Given the description of an element on the screen output the (x, y) to click on. 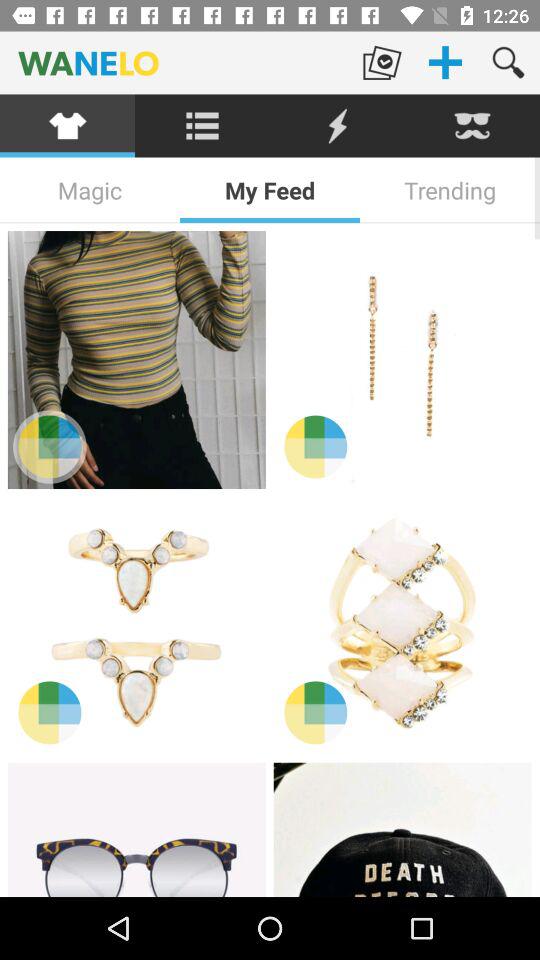
a flashin thumbnail of a woman in new clothing (402, 360)
